Given the description of an element on the screen output the (x, y) to click on. 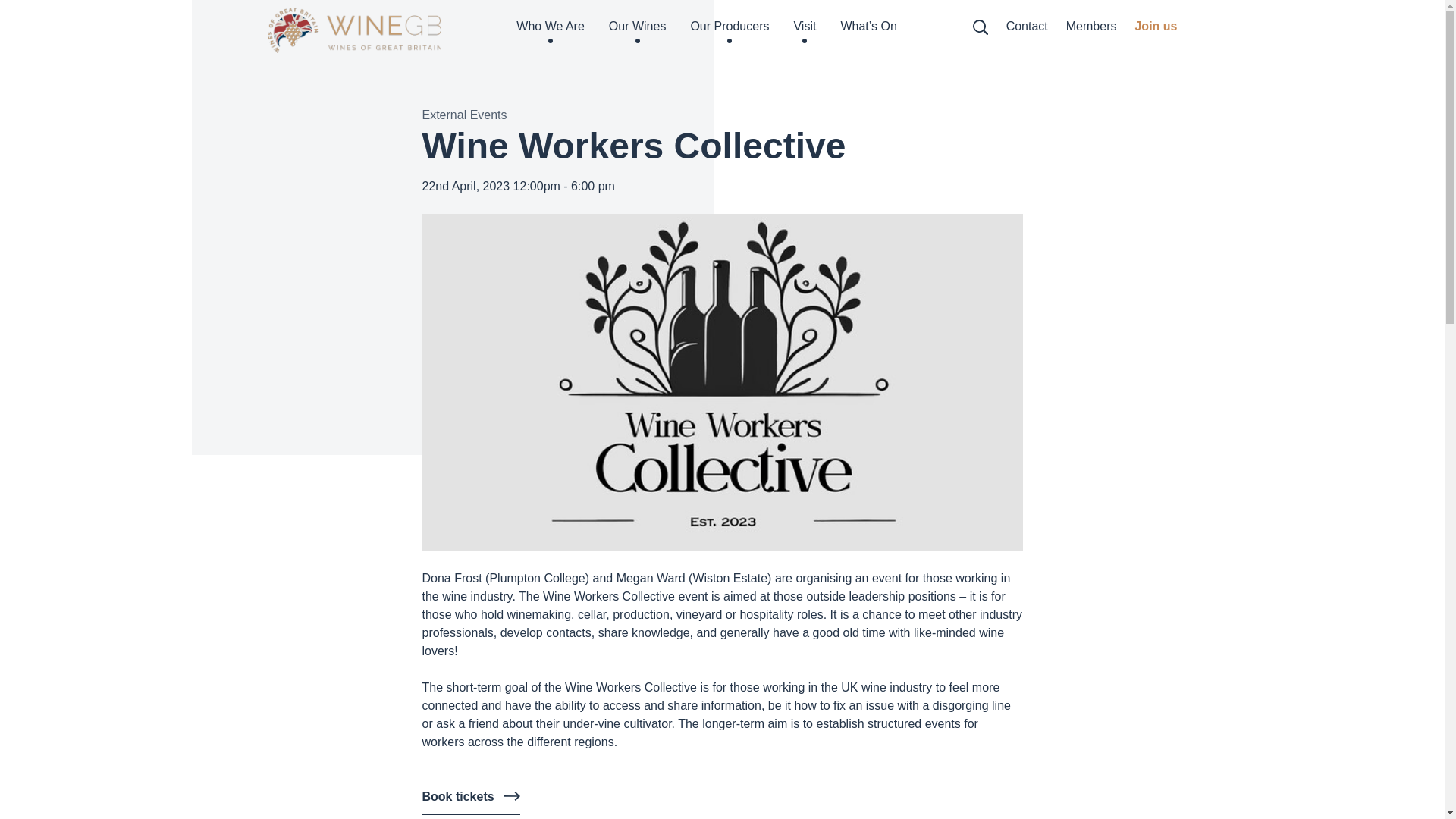
Our Producers (729, 30)
Who We Are (550, 30)
Members (1090, 30)
Book tickets (470, 800)
Our Wines (637, 30)
Contact (1027, 30)
WineGB (353, 30)
Join us (1155, 30)
External Events (464, 114)
